Given the description of an element on the screen output the (x, y) to click on. 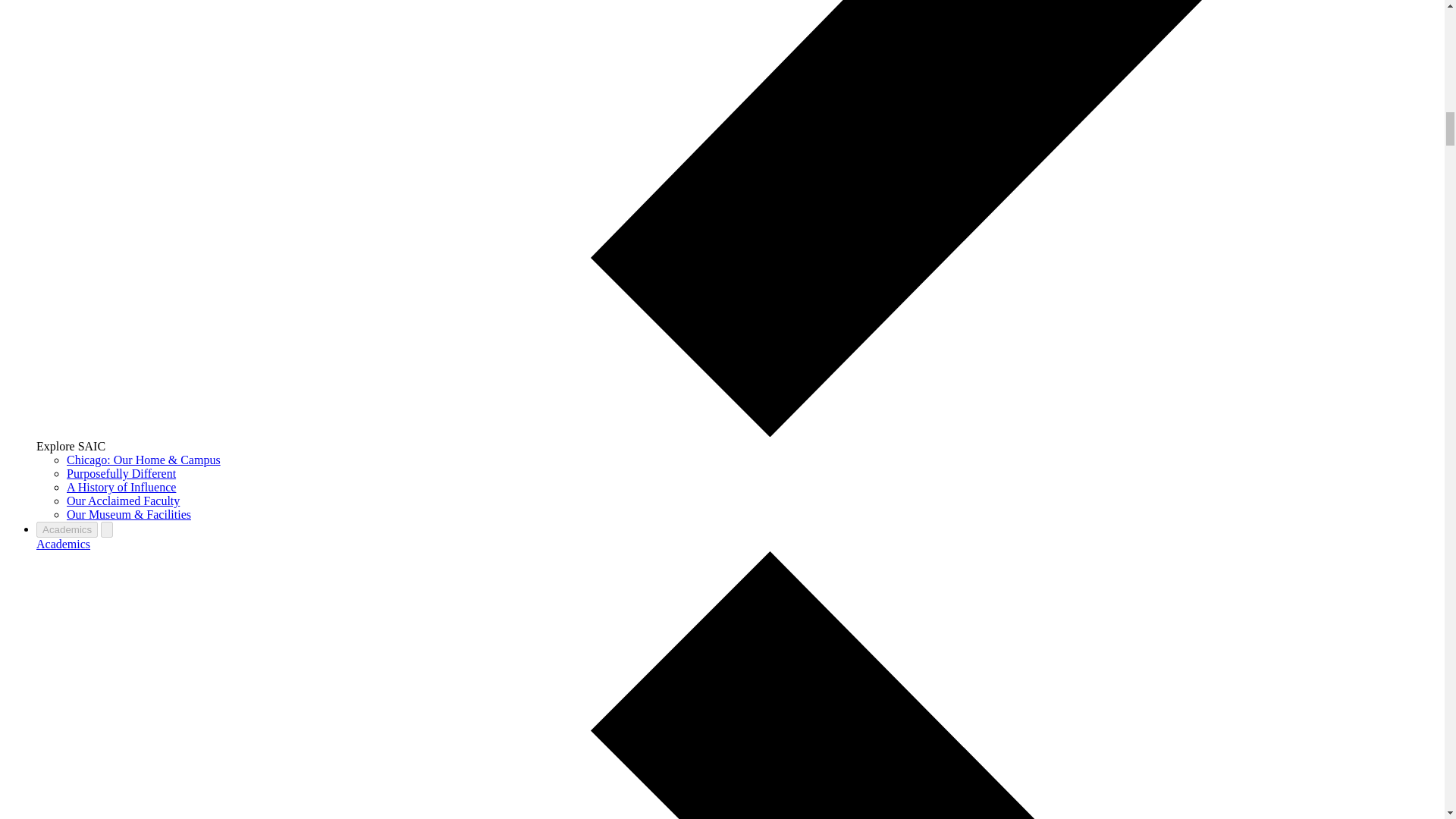
Academics (66, 529)
A History of Influence (121, 486)
Academics (63, 543)
Our Acclaimed Faculty (122, 500)
Purposefully Different (121, 472)
